Given the description of an element on the screen output the (x, y) to click on. 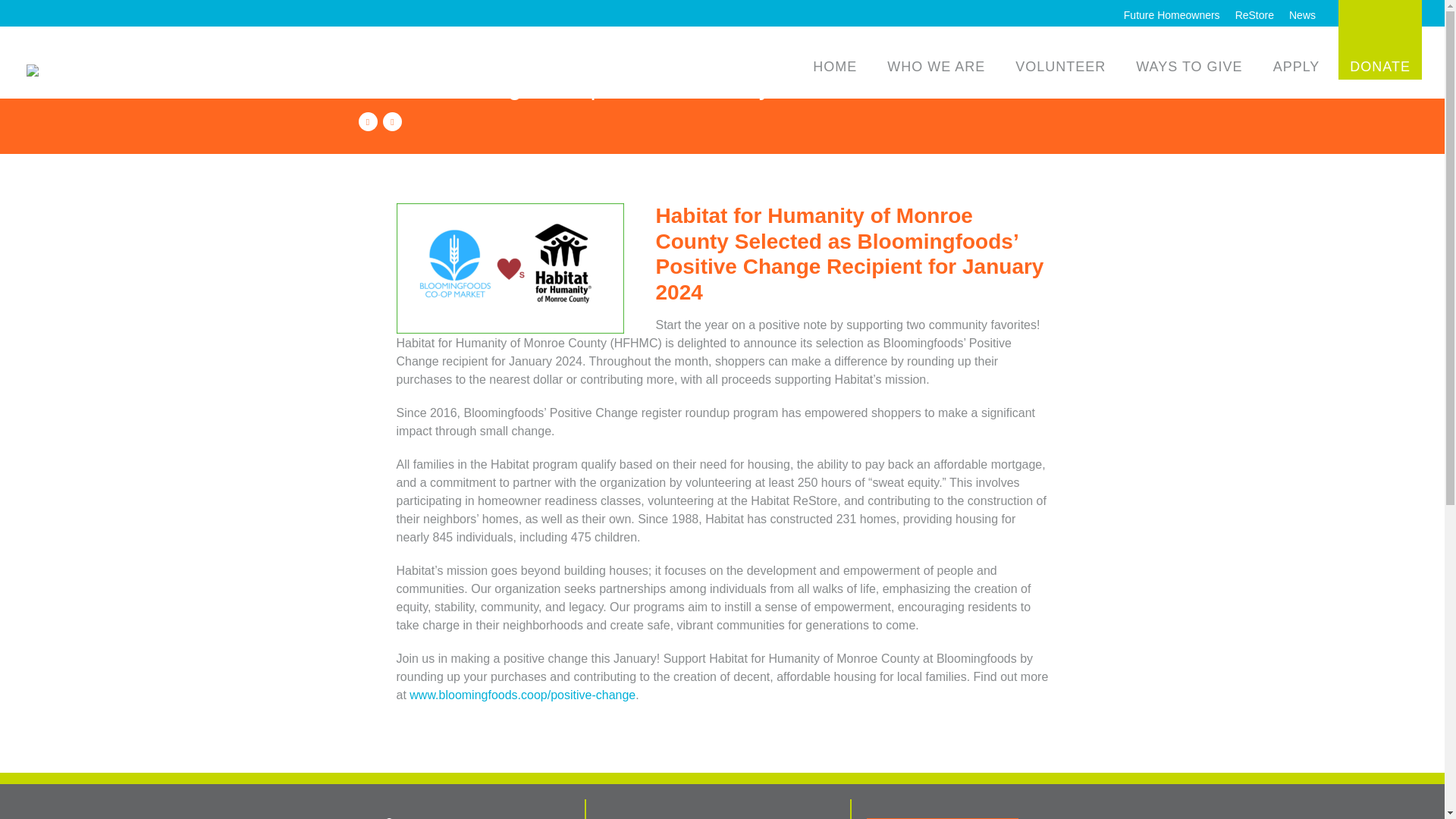
WHO WE ARE (935, 66)
VOLUNTEER (1060, 66)
HOME (834, 66)
Who We Are (630, 818)
News (1302, 15)
WAYS TO GIVE (1188, 66)
Volunteer (741, 818)
APPLY (1297, 66)
ReStore (1254, 15)
DONATE (1380, 39)
Future Homeowners (1171, 15)
